Given the description of an element on the screen output the (x, y) to click on. 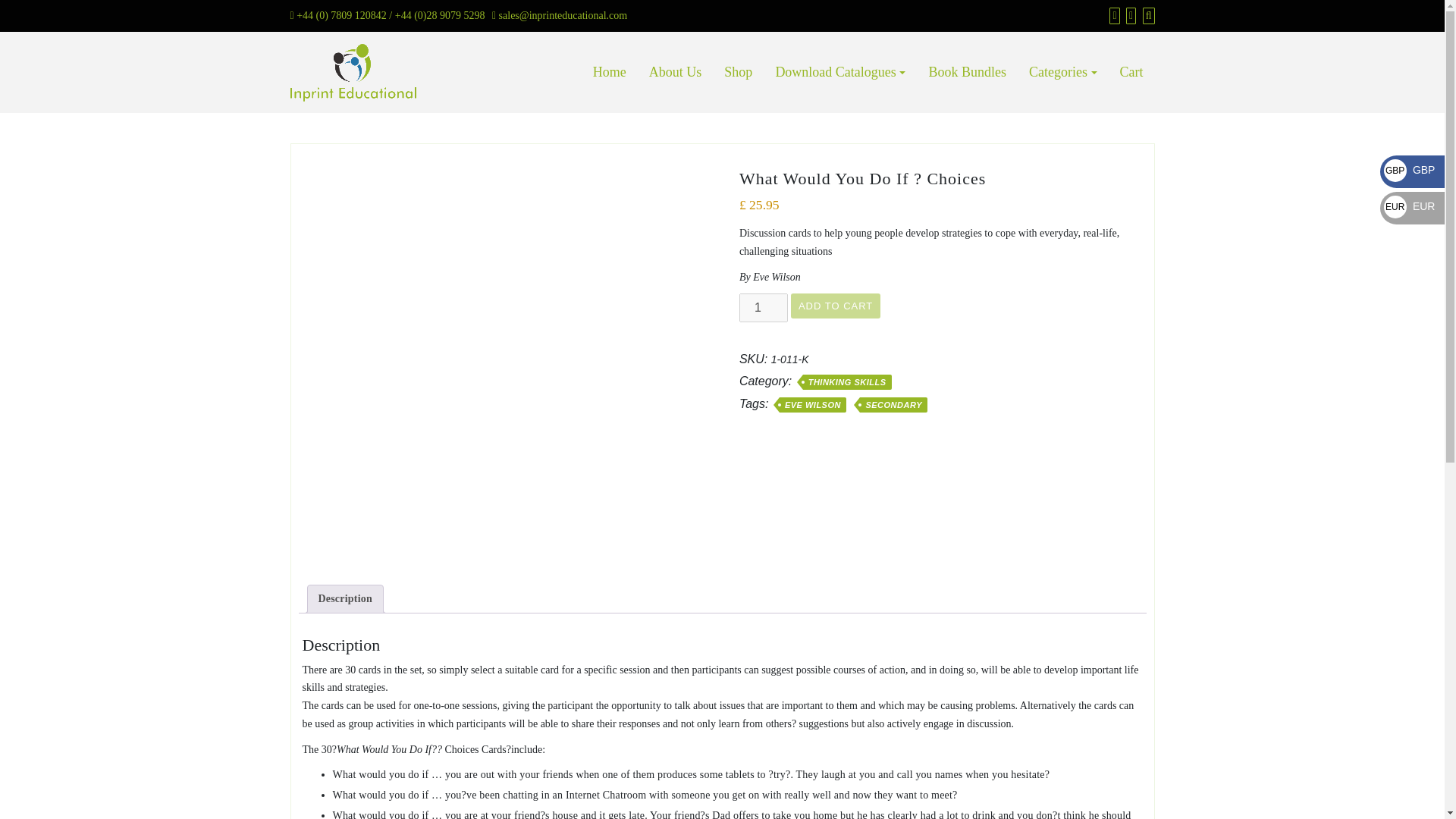
About Us (675, 72)
Cart (1128, 15)
Shop (1112, 15)
Book Bundles (967, 72)
Download Catalogues (839, 72)
1 (763, 307)
Categories (1062, 72)
Search (1146, 15)
